Given the description of an element on the screen output the (x, y) to click on. 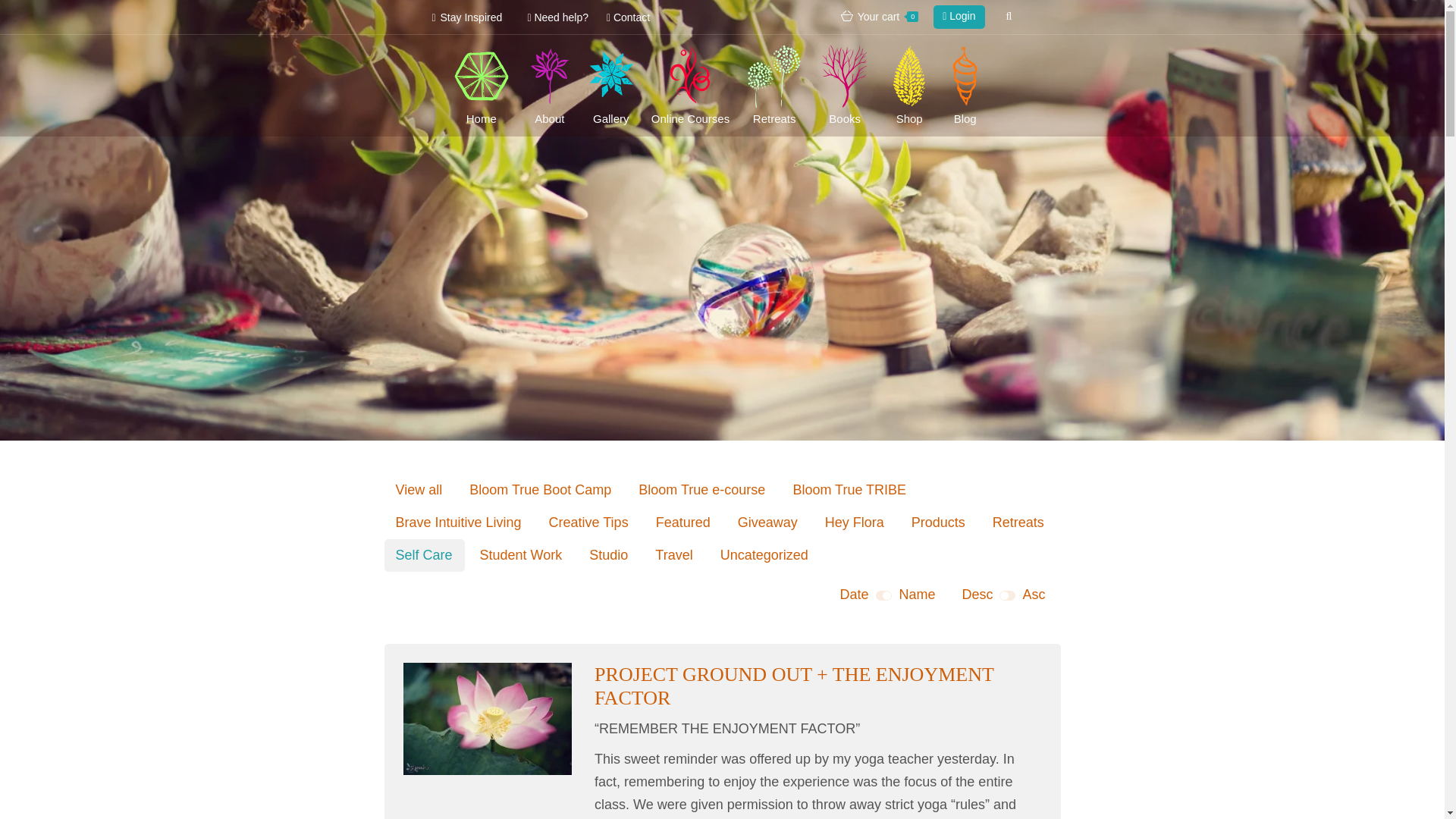
Stay Inspired (464, 16)
Bloom True Boot Camp (540, 490)
Bloom True TRIBE (849, 490)
Contact (628, 16)
Go! (519, 20)
Your cart0 (879, 16)
Giveaway (767, 522)
Featured (683, 522)
Need help? (559, 16)
Go! (519, 20)
